Given the description of an element on the screen output the (x, y) to click on. 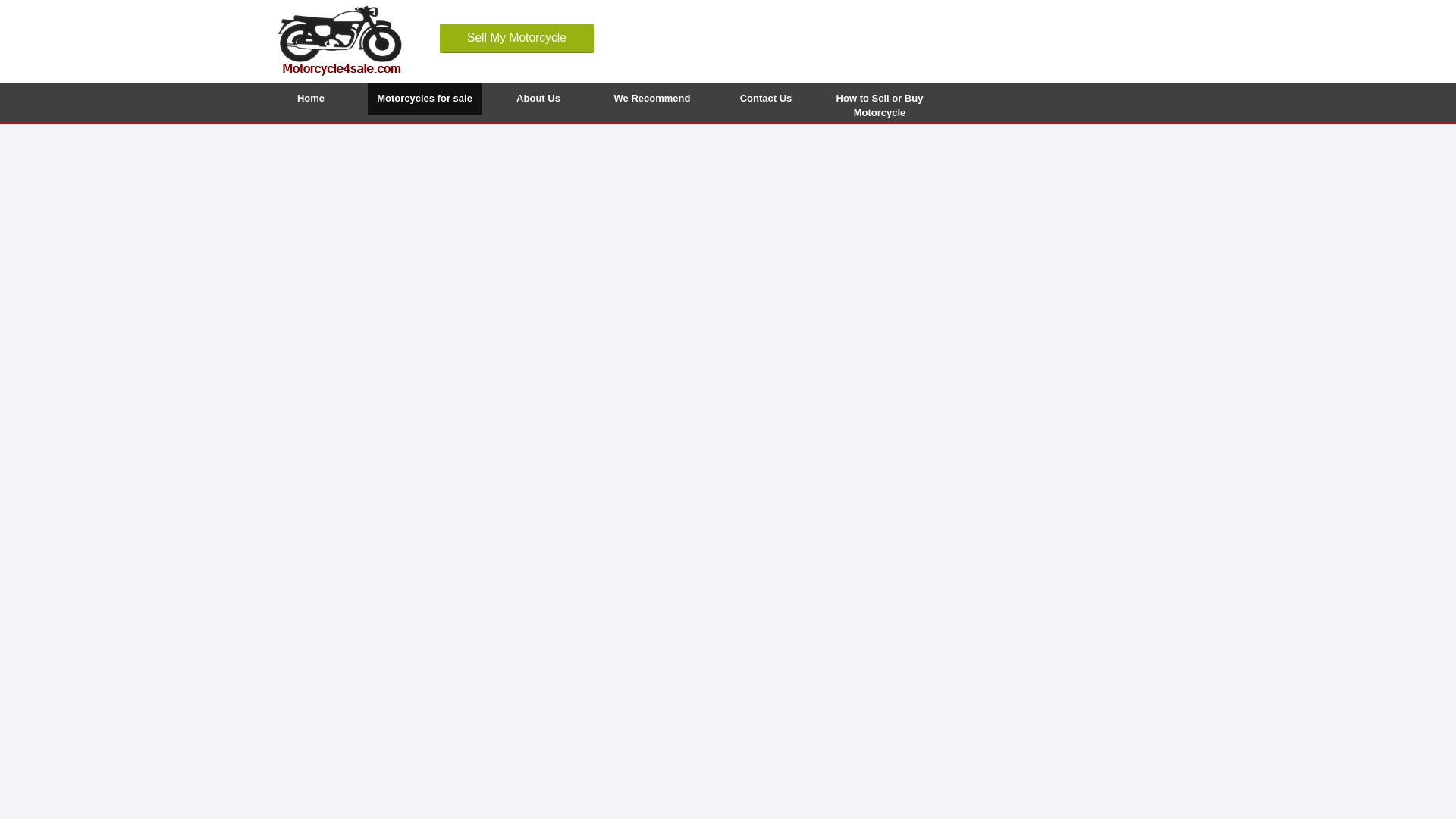
Home (310, 98)
Motorcycles for sale (424, 98)
We Recommend (652, 98)
Contact Us (765, 98)
About Us (538, 98)
Sell My Motorcycle (516, 38)
How to Sell or Buy Motorcycle (879, 98)
